Given the description of an element on the screen output the (x, y) to click on. 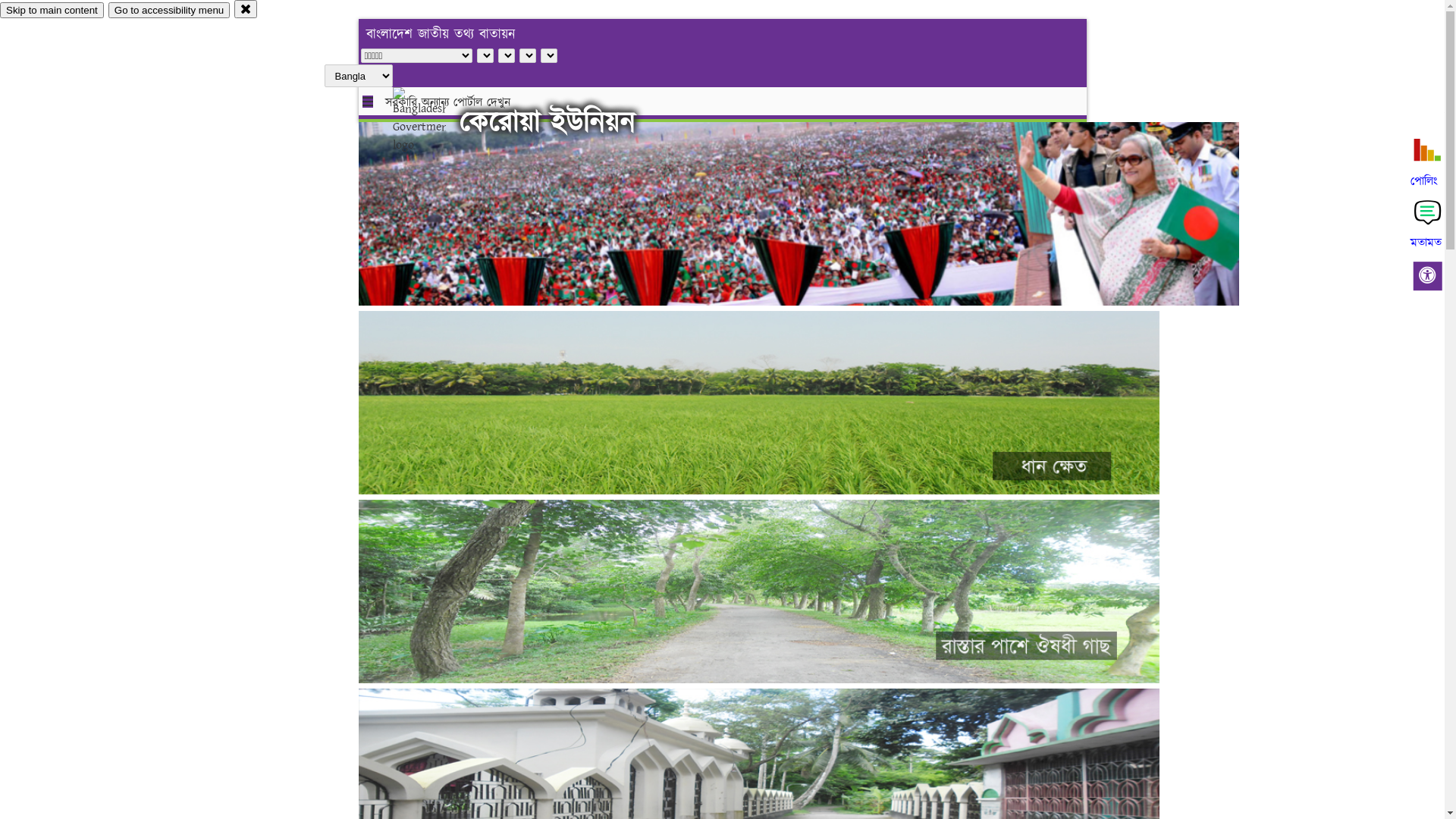
close Element type: hover (245, 9)

                
             Element type: hover (431, 120)
Skip to main content Element type: text (51, 10)
Go to accessibility menu Element type: text (168, 10)
